Given the description of an element on the screen output the (x, y) to click on. 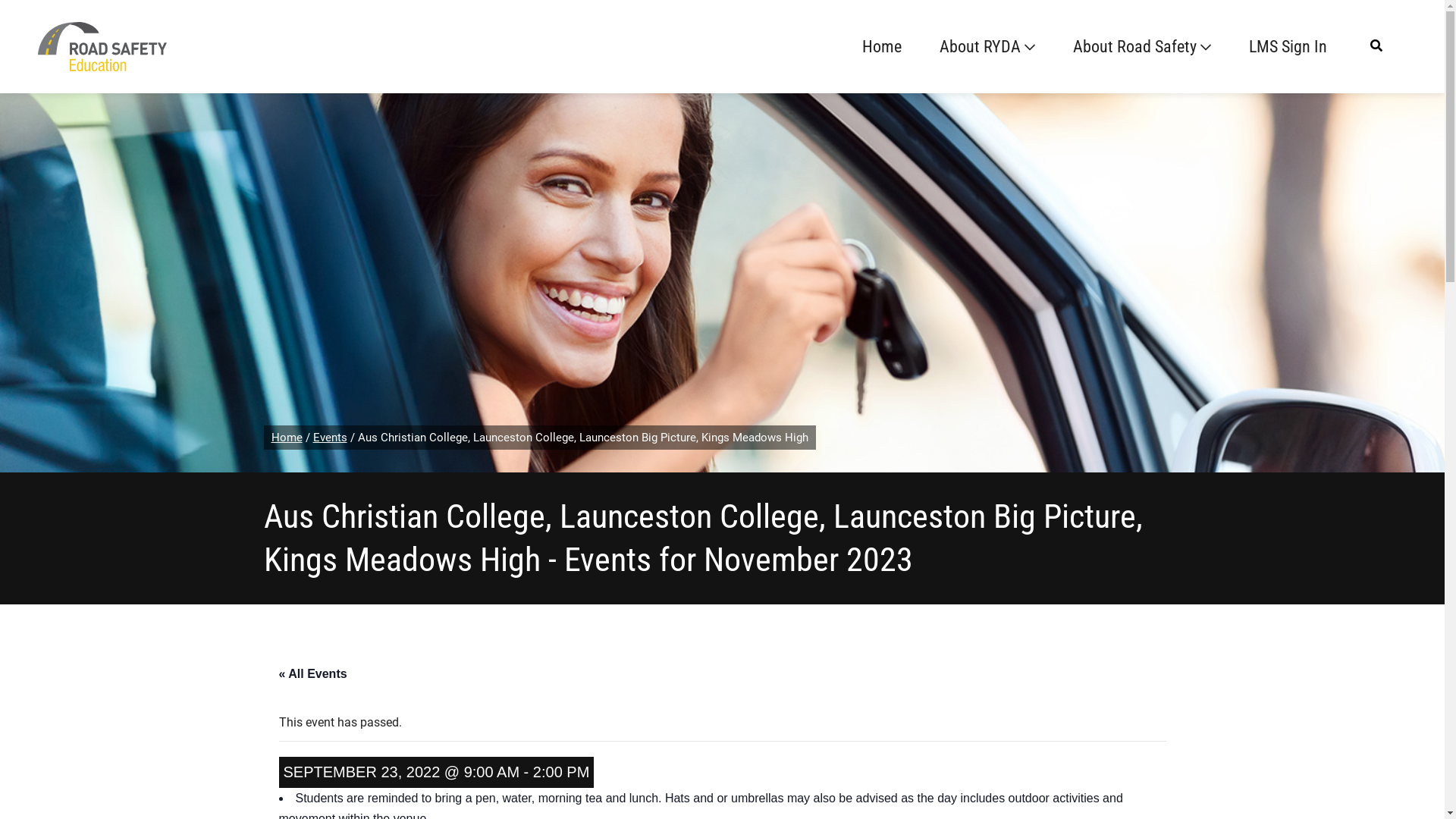
Events Element type: text (329, 437)
Home Element type: text (286, 437)
Search Element type: text (37, 18)
About Road Safety Element type: text (1142, 46)
About RYDA Element type: text (987, 46)
LMS Sign In Element type: text (1288, 46)
Home Element type: text (881, 46)
Road Safety Education Element type: hover (101, 45)
